Given the description of an element on the screen output the (x, y) to click on. 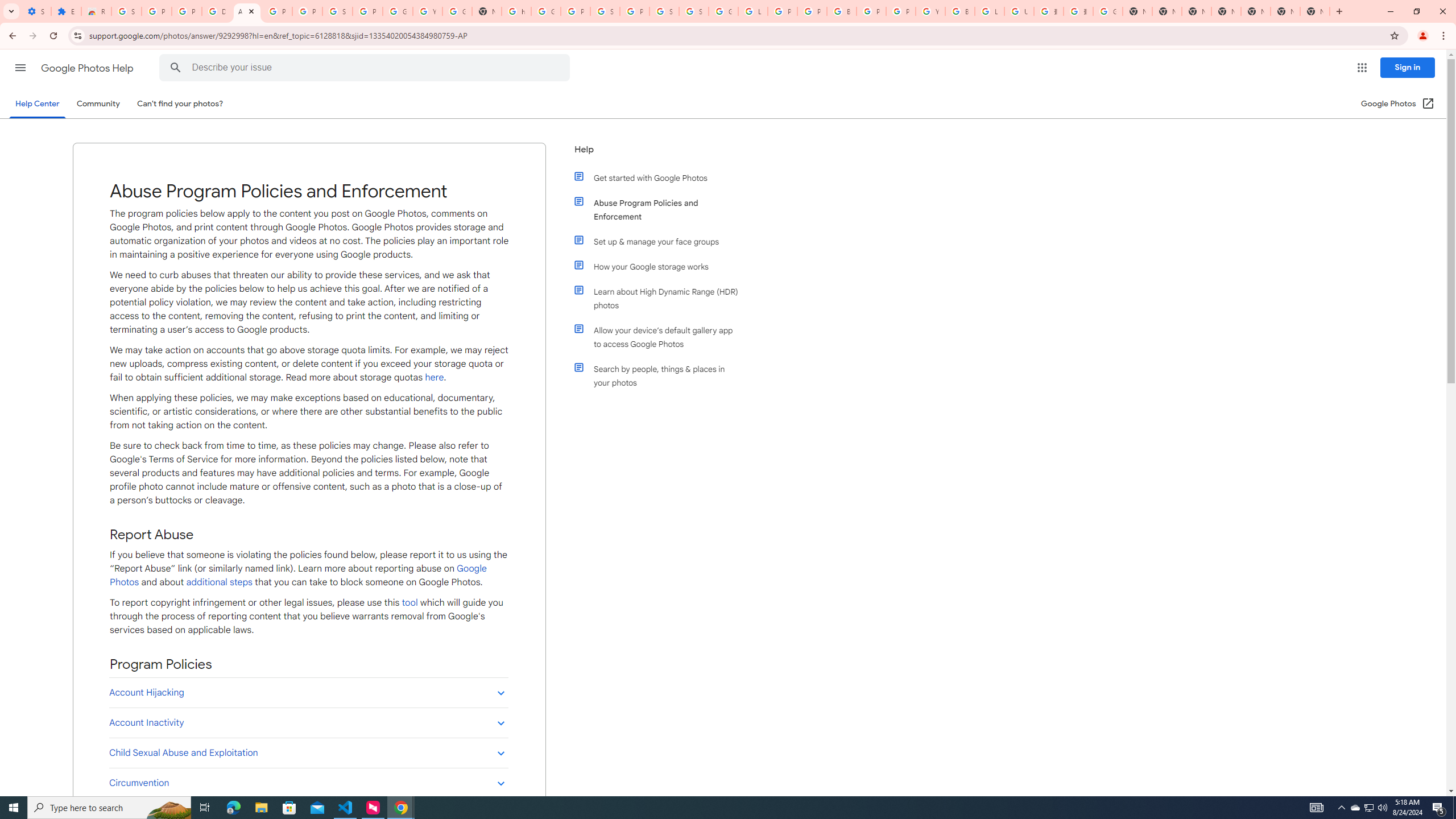
here (434, 377)
YouTube (426, 11)
Google Images (1107, 11)
Abuse Program Policies and Enforcement (661, 209)
